Given the description of an element on the screen output the (x, y) to click on. 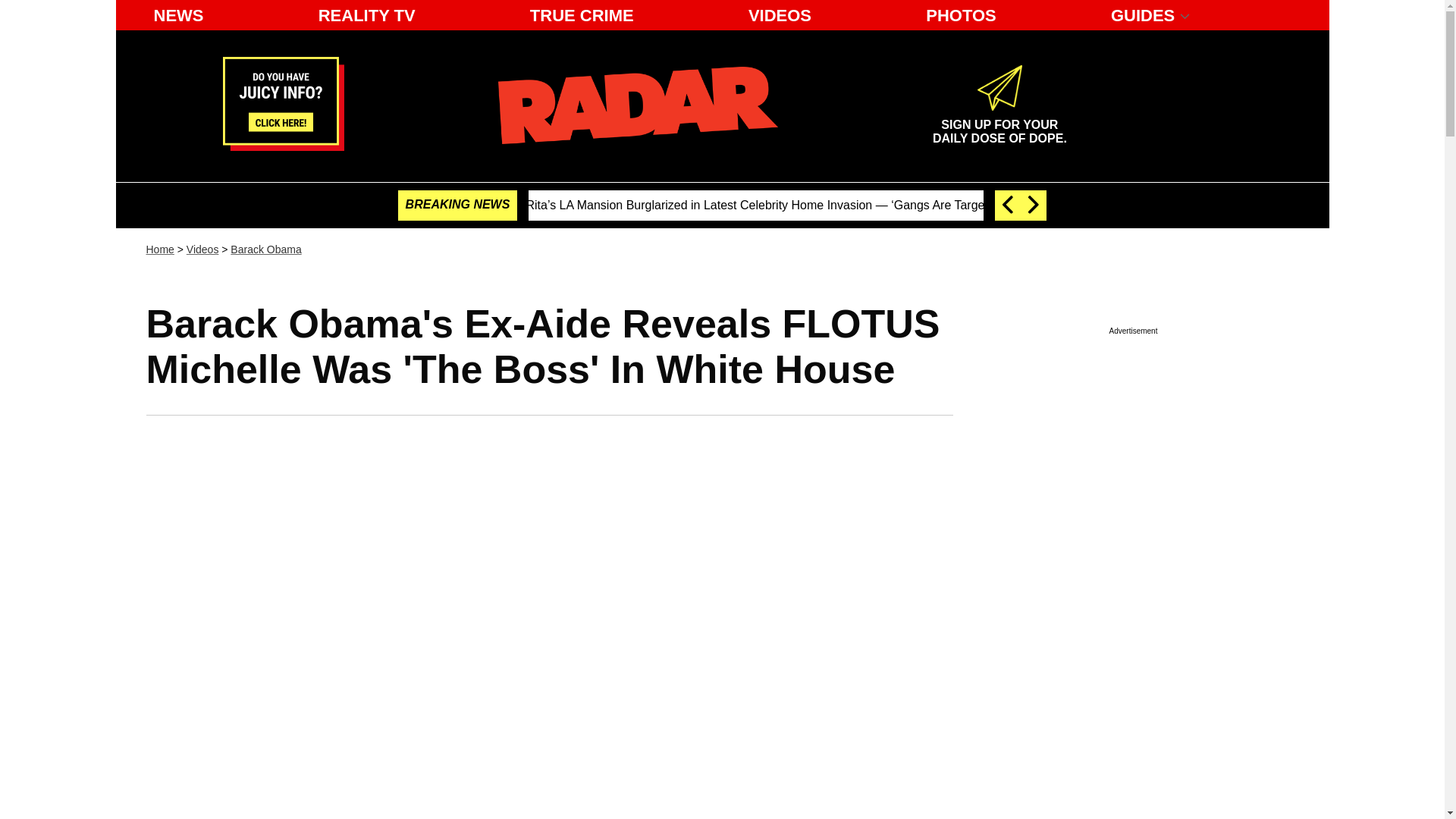
TRUE CRIME (582, 15)
PHOTOS (961, 15)
REALITY TV (367, 15)
Radar Online (637, 105)
Home (159, 249)
VIDEOS (779, 15)
Email us your tip (282, 146)
NEWS (178, 15)
Sign up for your daily dose of dope. (999, 124)
Barack Obama (265, 249)
Videos (999, 124)
